Given the description of an element on the screen output the (x, y) to click on. 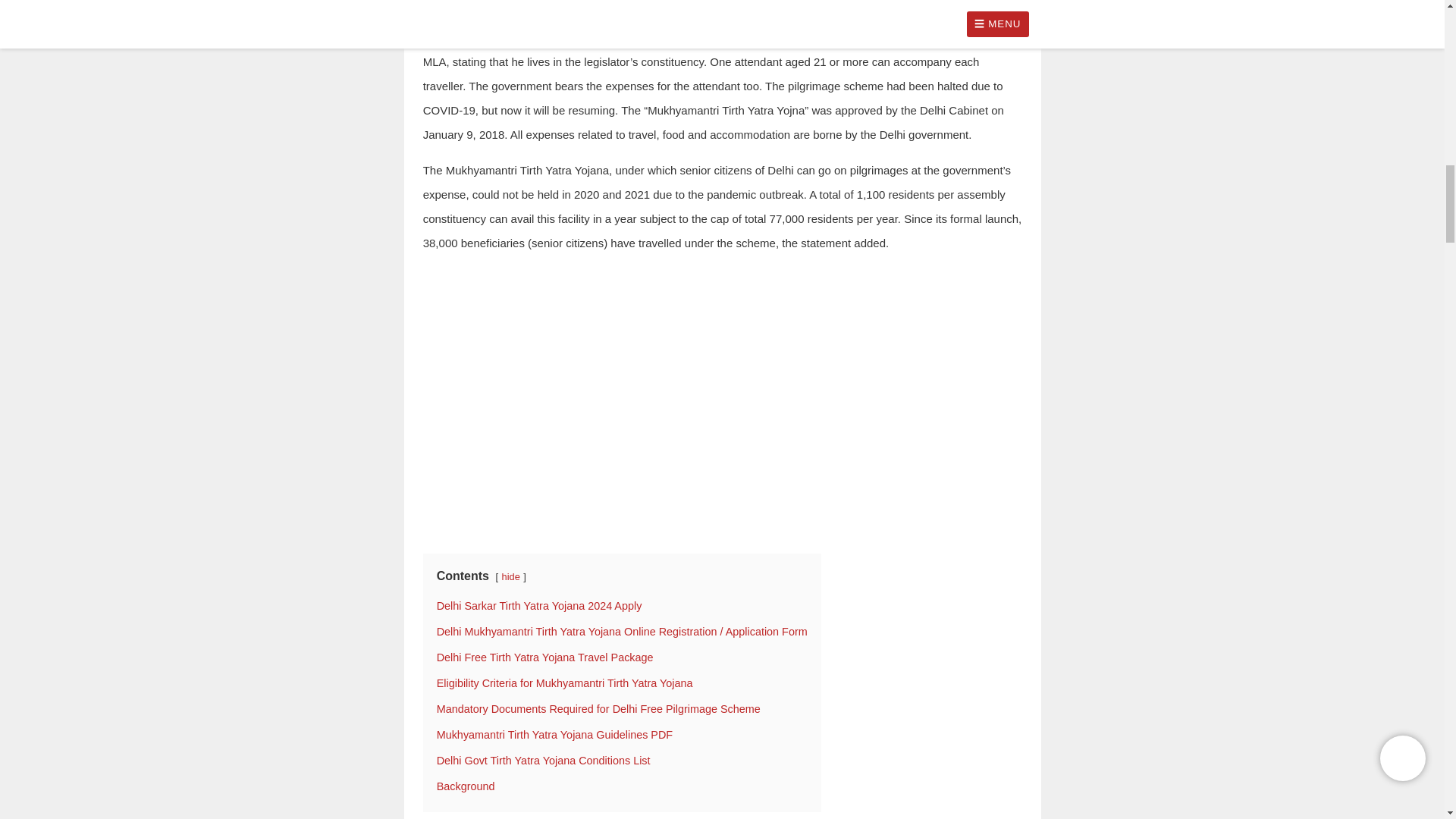
Eligibility Criteria for Mukhyamantri Tirth Yatra Yojana (564, 683)
Delhi Sarkar Tirth Yatra Yojana 2024 Apply (539, 605)
hide (510, 576)
Background (465, 786)
Delhi Free Tirth Yatra Yojana Travel Package (544, 657)
Delhi Govt Tirth Yatra Yojana Conditions List (543, 760)
Mukhyamantri Tirth Yatra Yojana Guidelines PDF (554, 734)
